Given the description of an element on the screen output the (x, y) to click on. 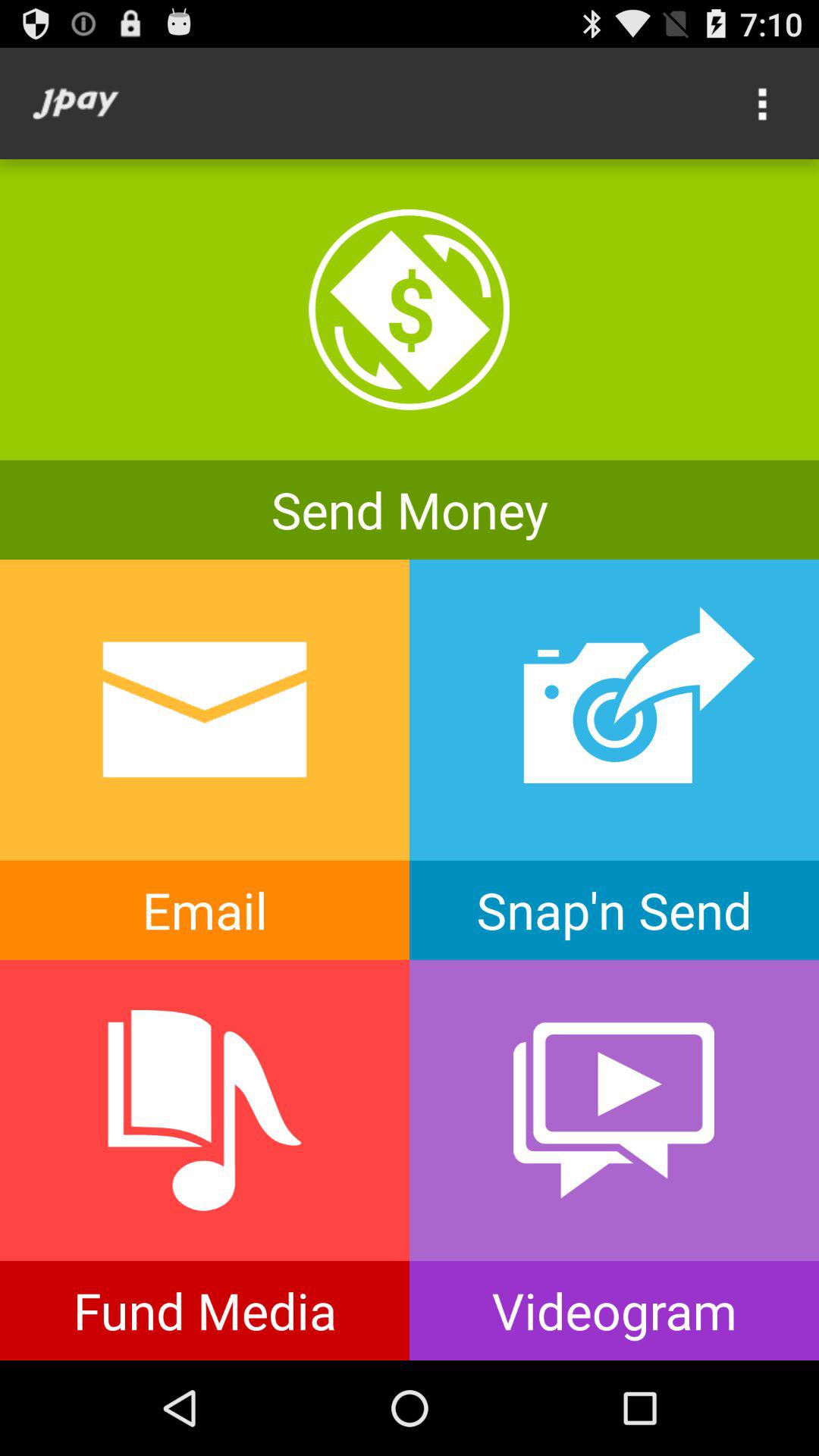
click play button (614, 1160)
